Given the description of an element on the screen output the (x, y) to click on. 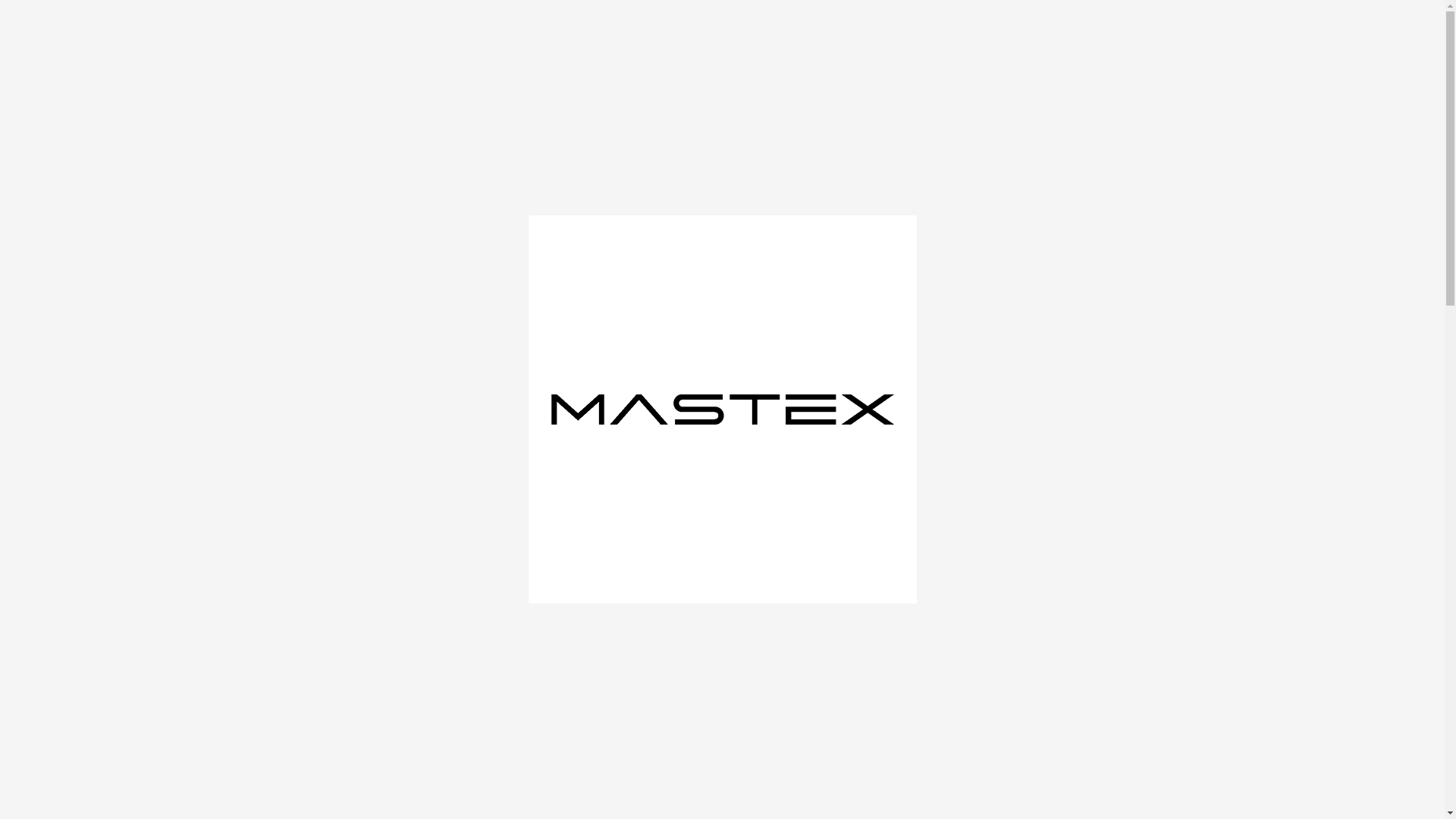
Projector (369, 357)
Keyboard (369, 540)
Headset (369, 571)
Contact Us (1132, 44)
Computer Case (369, 387)
Controller (369, 173)
Monitor (369, 295)
Headphones (369, 265)
SSD Hard Drive (369, 449)
HDMI Splitter (369, 235)
